Given the description of an element on the screen output the (x, y) to click on. 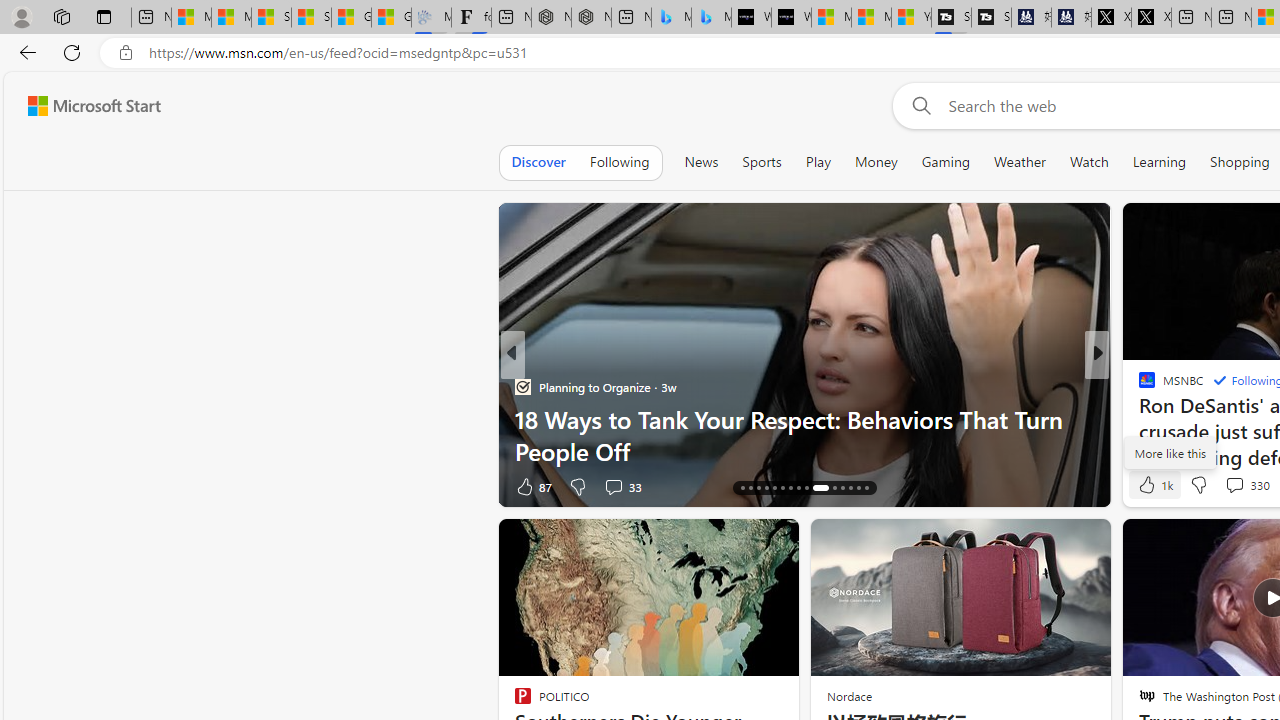
View comments 266 Comment (1234, 485)
AutomationID: tab-29 (857, 487)
View comments 55 Comment (1237, 486)
View comments 353 Comment (11, 485)
AutomationID: tab-20 (774, 487)
View comments 96 Comment (1234, 485)
View comments 152 Comment (11, 485)
AutomationID: tab-22 (789, 487)
View comments 330 Comment (1246, 484)
View comments 39 Comment (11, 485)
